Given the description of an element on the screen output the (x, y) to click on. 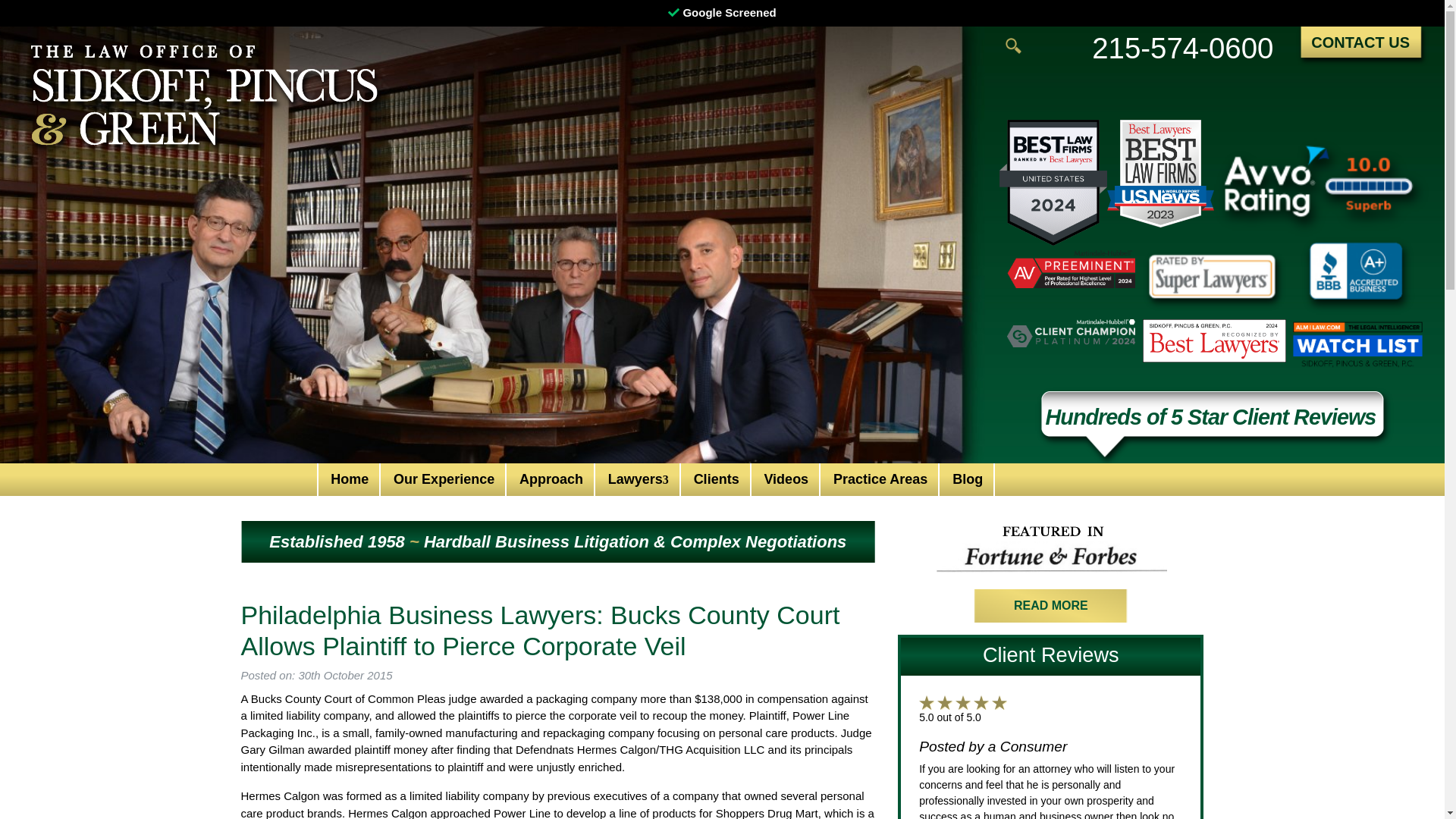
Best Law Firms - Standard Badge (1052, 182)
Best Law Firms - Standard Badge (1160, 172)
Star (999, 702)
Star (963, 702)
Star (981, 702)
Star (944, 702)
Star (926, 702)
